Given the description of an element on the screen output the (x, y) to click on. 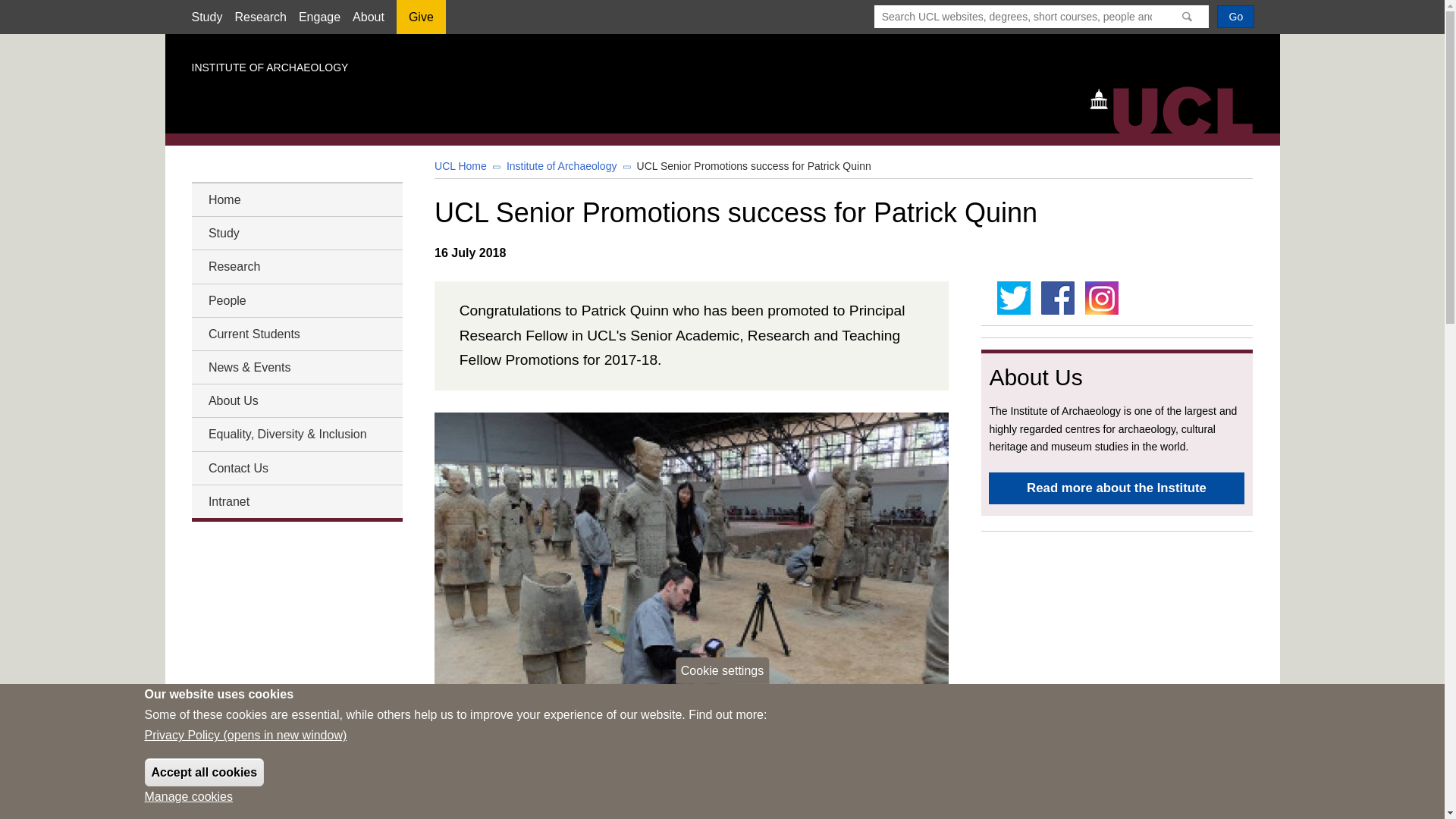
Research (259, 16)
Engage (319, 16)
About (368, 16)
Go (1235, 15)
Study (206, 16)
People (296, 300)
Contact Us (296, 467)
Home (296, 199)
Give (420, 22)
About Us (296, 400)
Go (1235, 15)
Home (1178, 108)
Study (296, 232)
Research (296, 266)
Current Students (296, 333)
